Given the description of an element on the screen output the (x, y) to click on. 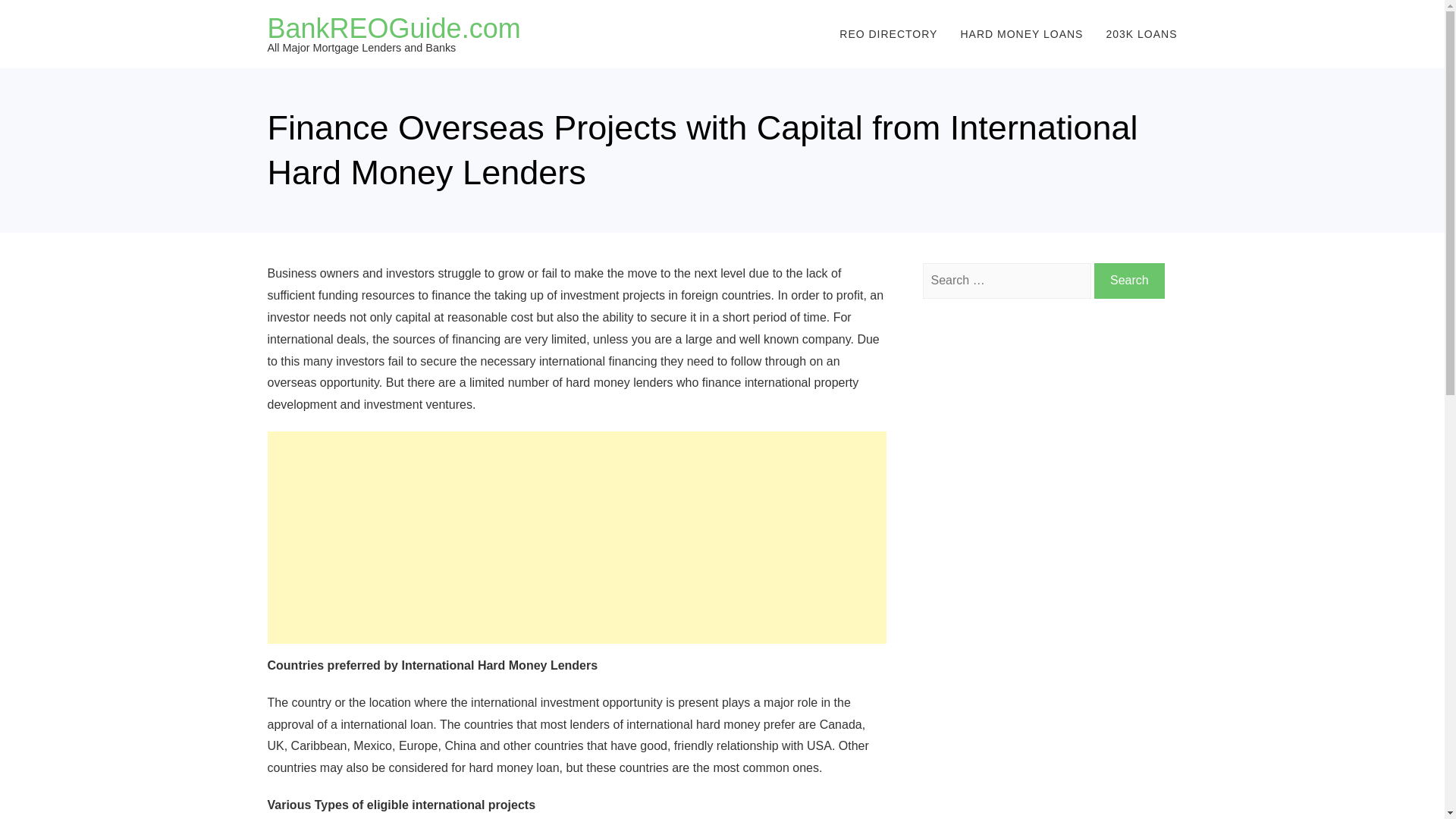
Search (1129, 280)
HARD MONEY LOANS (1021, 33)
BankREOGuide.com (392, 28)
Search (1129, 280)
REO DIRECTORY (888, 33)
Search (1129, 280)
203K LOANS (1140, 33)
Advertisement (575, 537)
